Given the description of an element on the screen output the (x, y) to click on. 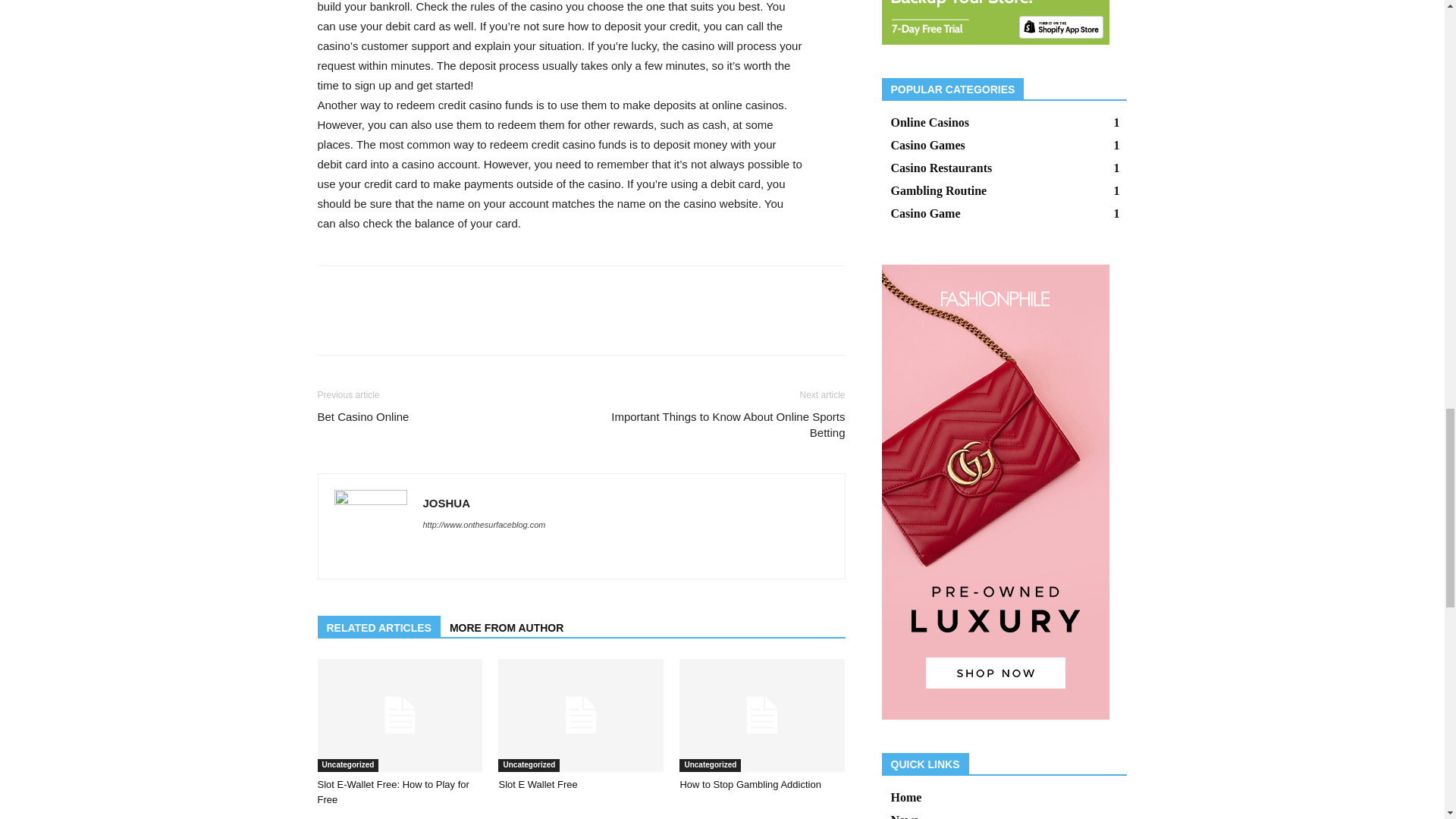
Slot E Wallet Free (536, 784)
How to Stop Gambling Addiction (750, 784)
Slot E-Wallet Free: How to Play for Free (399, 715)
How to Stop Gambling Addiction (761, 715)
Slot E Wallet Free (580, 715)
Slot E-Wallet Free: How to Play for Free (392, 791)
Important Things to Know About Online Sports Betting (721, 423)
Bet Casino Online (363, 415)
JOSHUA (446, 502)
